Given the description of an element on the screen output the (x, y) to click on. 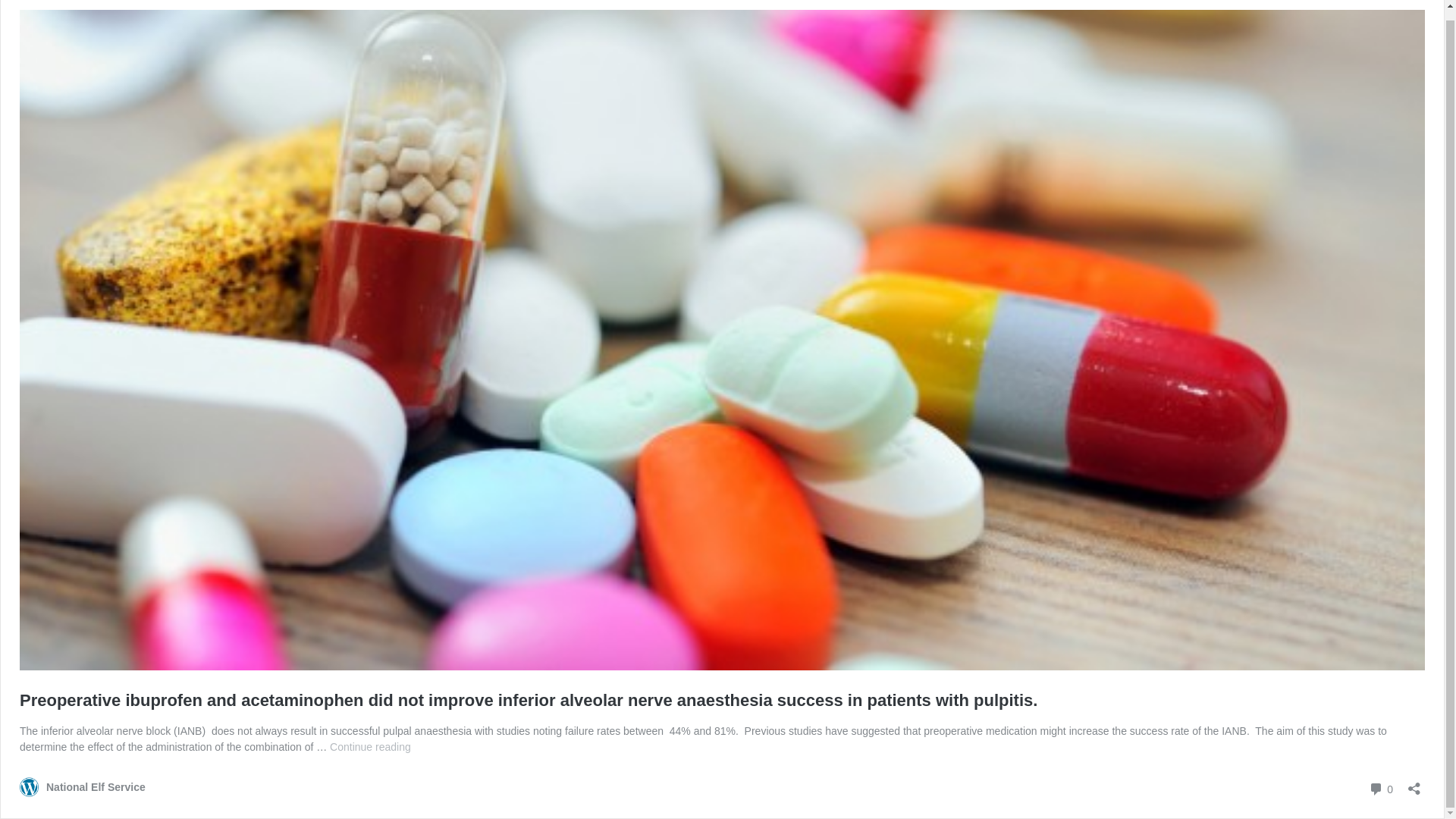
National Elf Service (1380, 788)
